Given the description of an element on the screen output the (x, y) to click on. 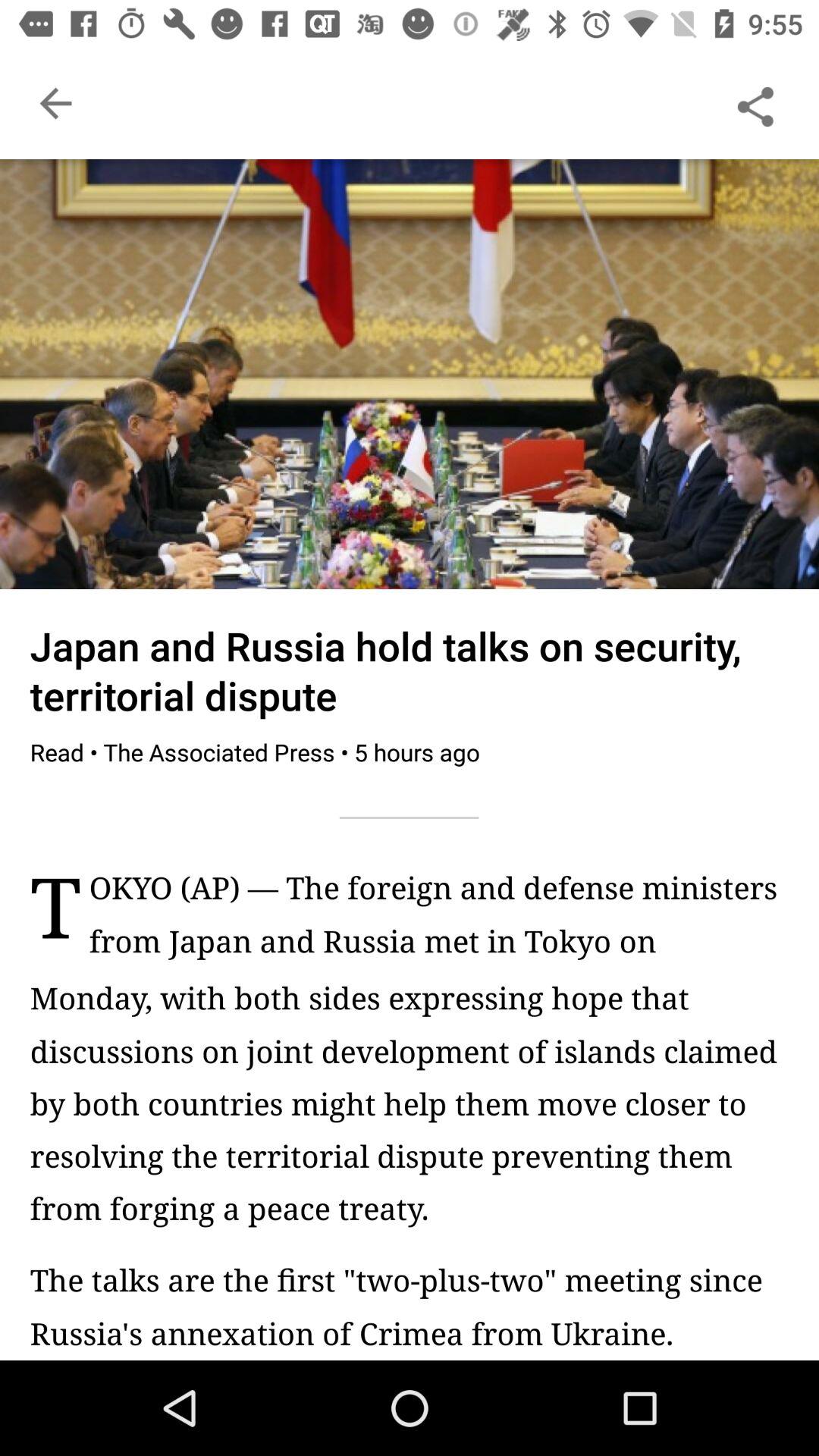
scroll to the okyo ap the item (438, 922)
